Given the description of an element on the screen output the (x, y) to click on. 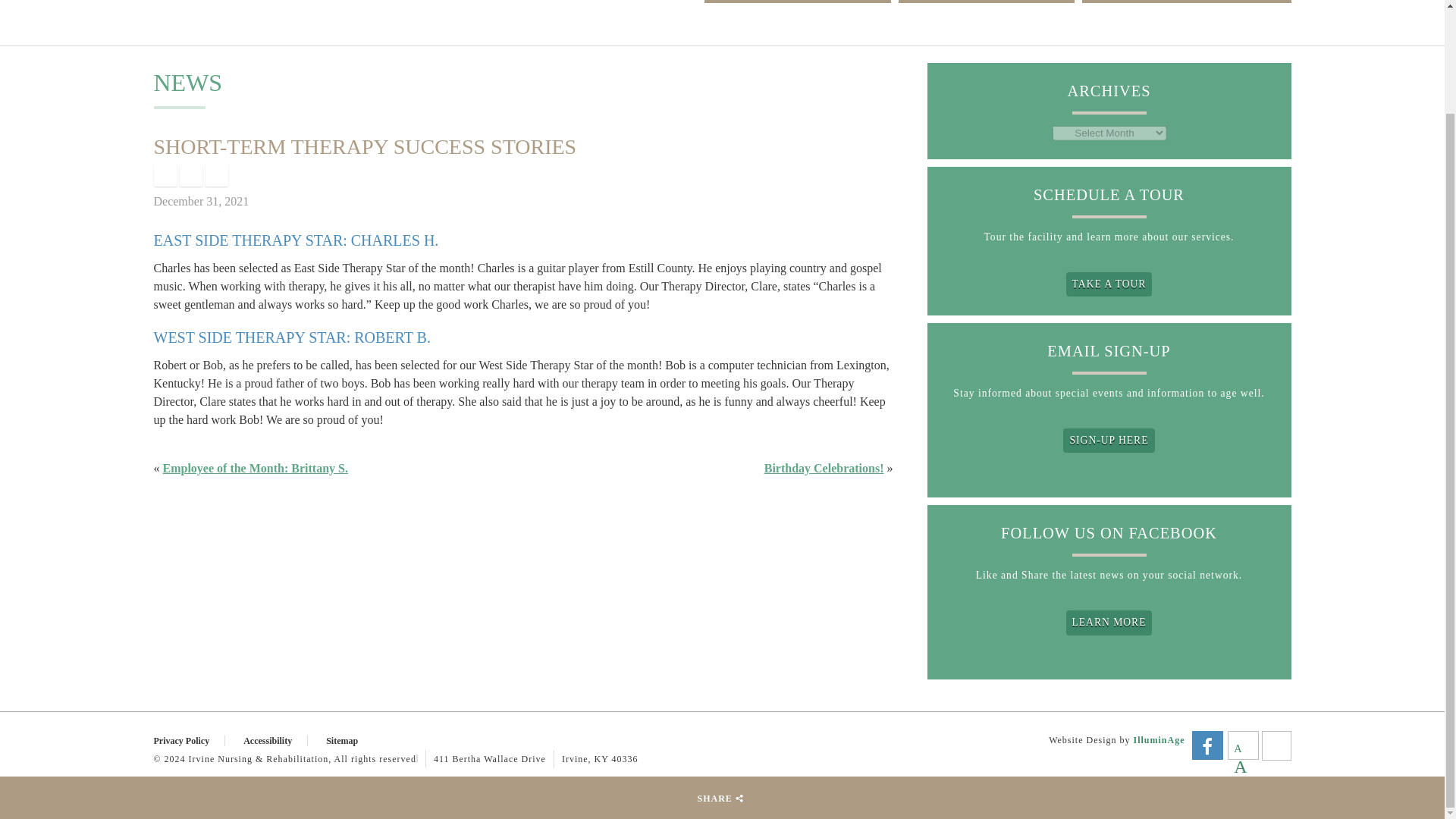
SKILLED NURSING (797, 1)
REHABILITATION (986, 1)
Birthday Celebrations! (823, 468)
High Contrast: White Background with Black Text (1276, 745)
SPECIALTY SERVICES (1185, 1)
Sitemap (350, 740)
LEARN MORE (1109, 622)
Employee of the Month: Brittany S. (254, 468)
IlluminAge (1158, 739)
Accessibility (275, 740)
TAKE A TOUR (1109, 283)
SIGN-UP HERE (1108, 440)
Privacy Policy (188, 740)
